Given the description of an element on the screen output the (x, y) to click on. 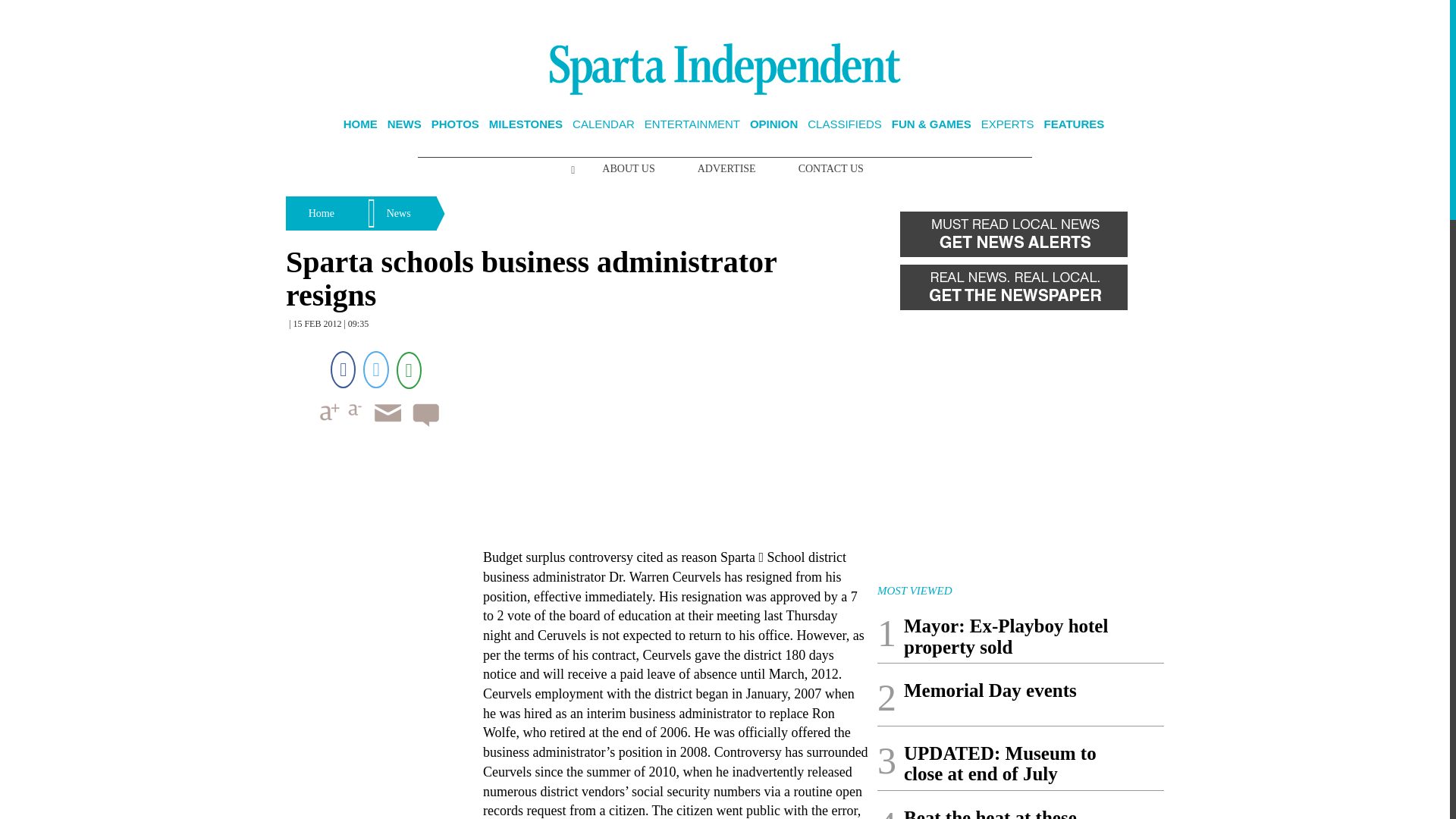
PHOTOS (454, 123)
FEATURES (1074, 123)
OPINION (773, 123)
CALENDAR (603, 123)
NEWS (404, 123)
CLASSIFIEDS (845, 123)
EXPERTS (1007, 123)
HOME (360, 123)
MILESTONES (525, 123)
ENTERTAINMENT (692, 123)
